Given the description of an element on the screen output the (x, y) to click on. 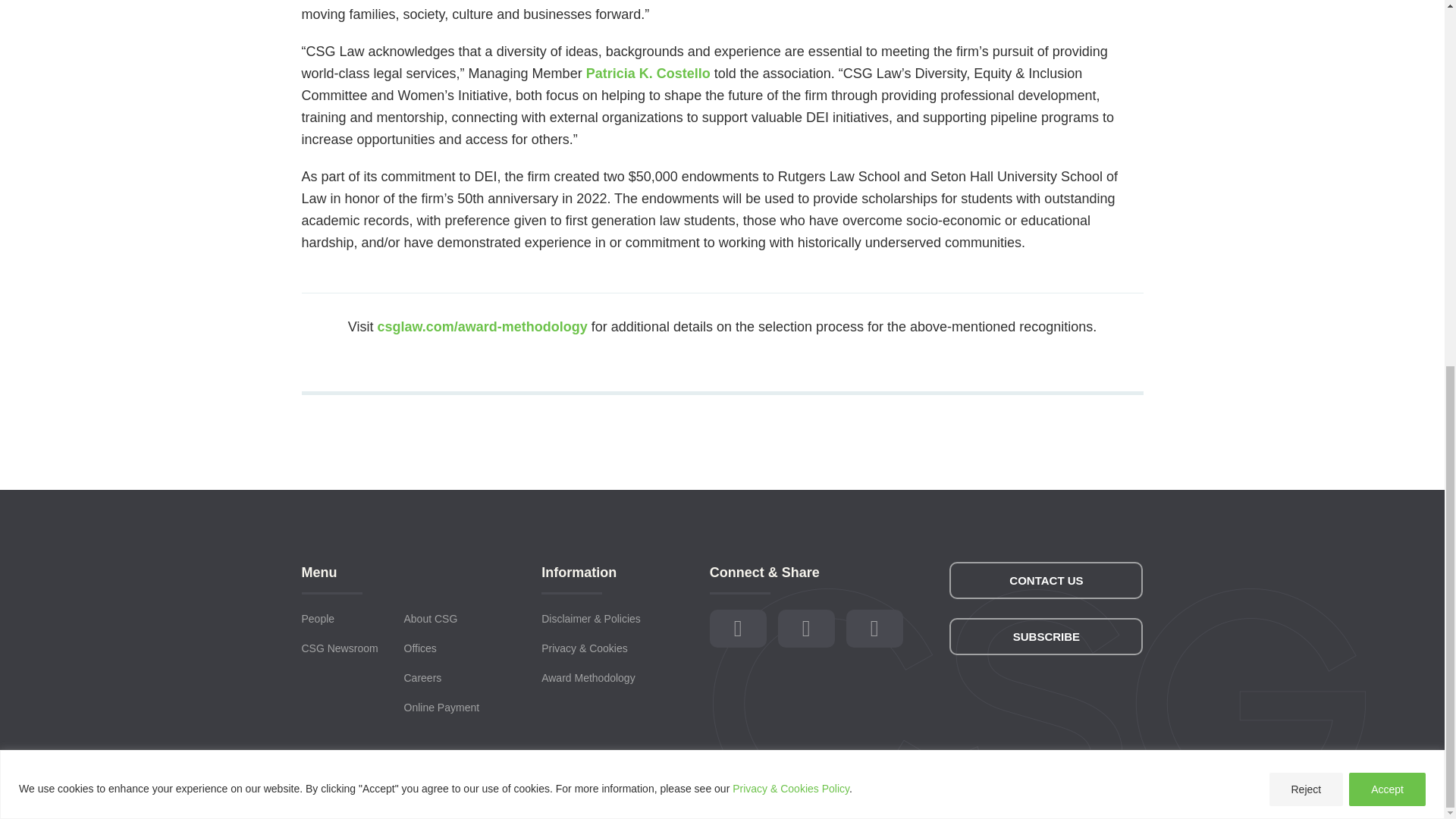
Accept (1387, 129)
Reject (1306, 129)
